Given the description of an element on the screen output the (x, y) to click on. 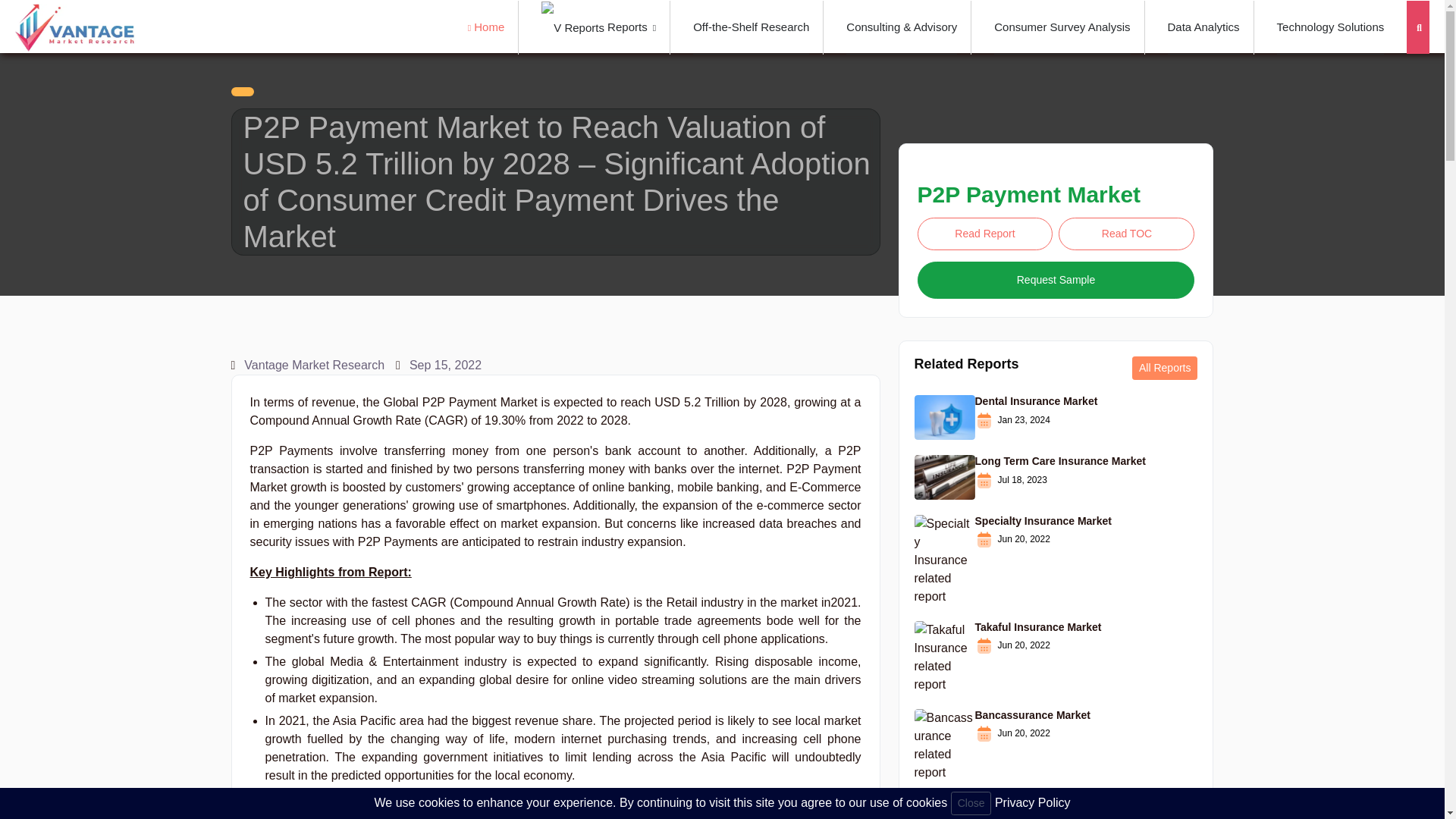
Consumer Survey Analysis (1061, 27)
Read TOC (1125, 233)
Request Sample (1056, 279)
Off-the-Shelf Research (751, 27)
Data Analytics (1203, 27)
Technology Solutions (1330, 27)
All Reports (1164, 368)
Read Report (984, 233)
Reports (598, 27)
